Given the description of an element on the screen output the (x, y) to click on. 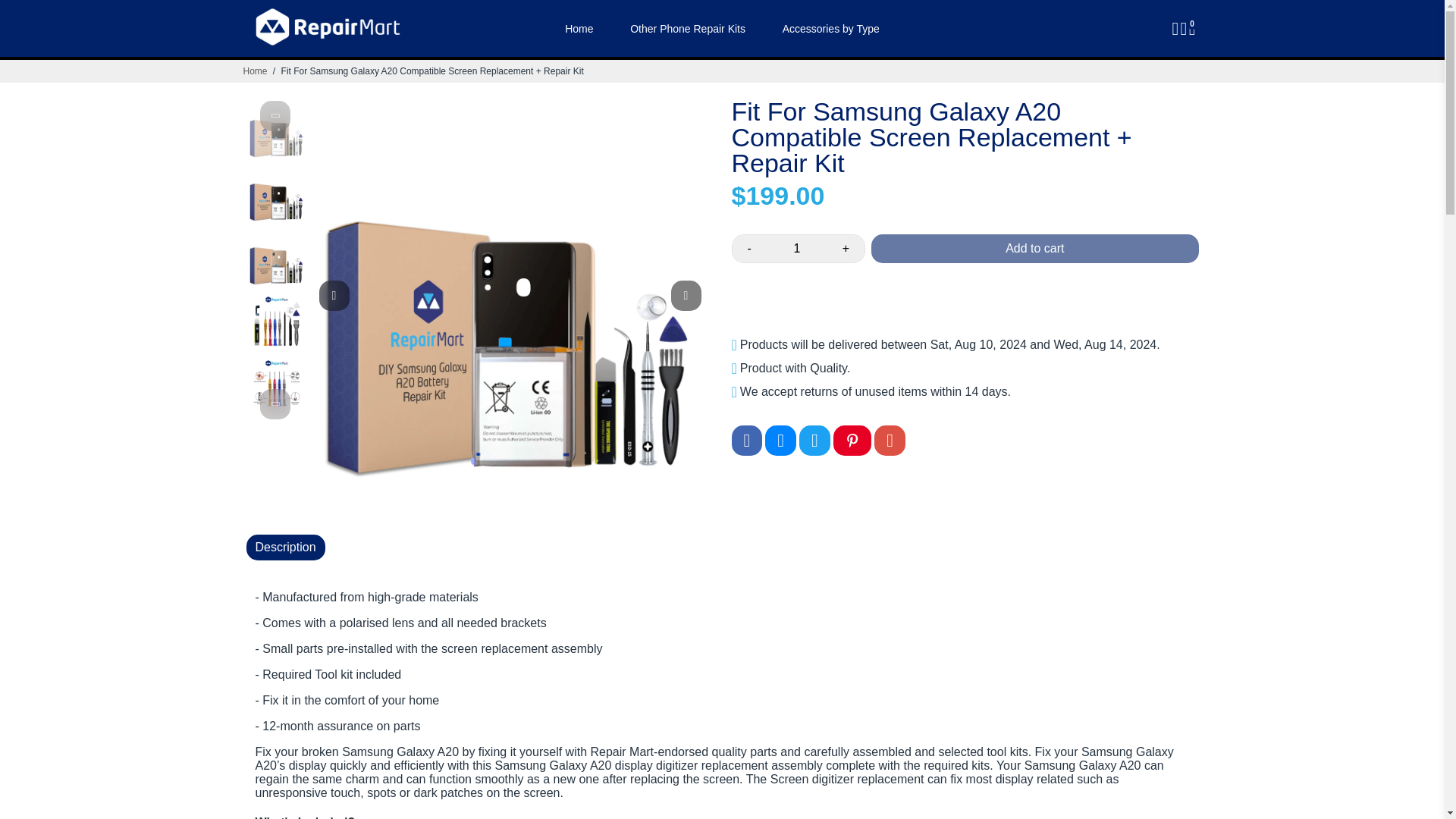
- (749, 248)
Accessories by Type (831, 28)
Home (254, 71)
Add to cart (1034, 248)
Other Phone Repair Kits (687, 28)
1 (797, 248)
Home (254, 71)
Home (579, 28)
